Given the description of an element on the screen output the (x, y) to click on. 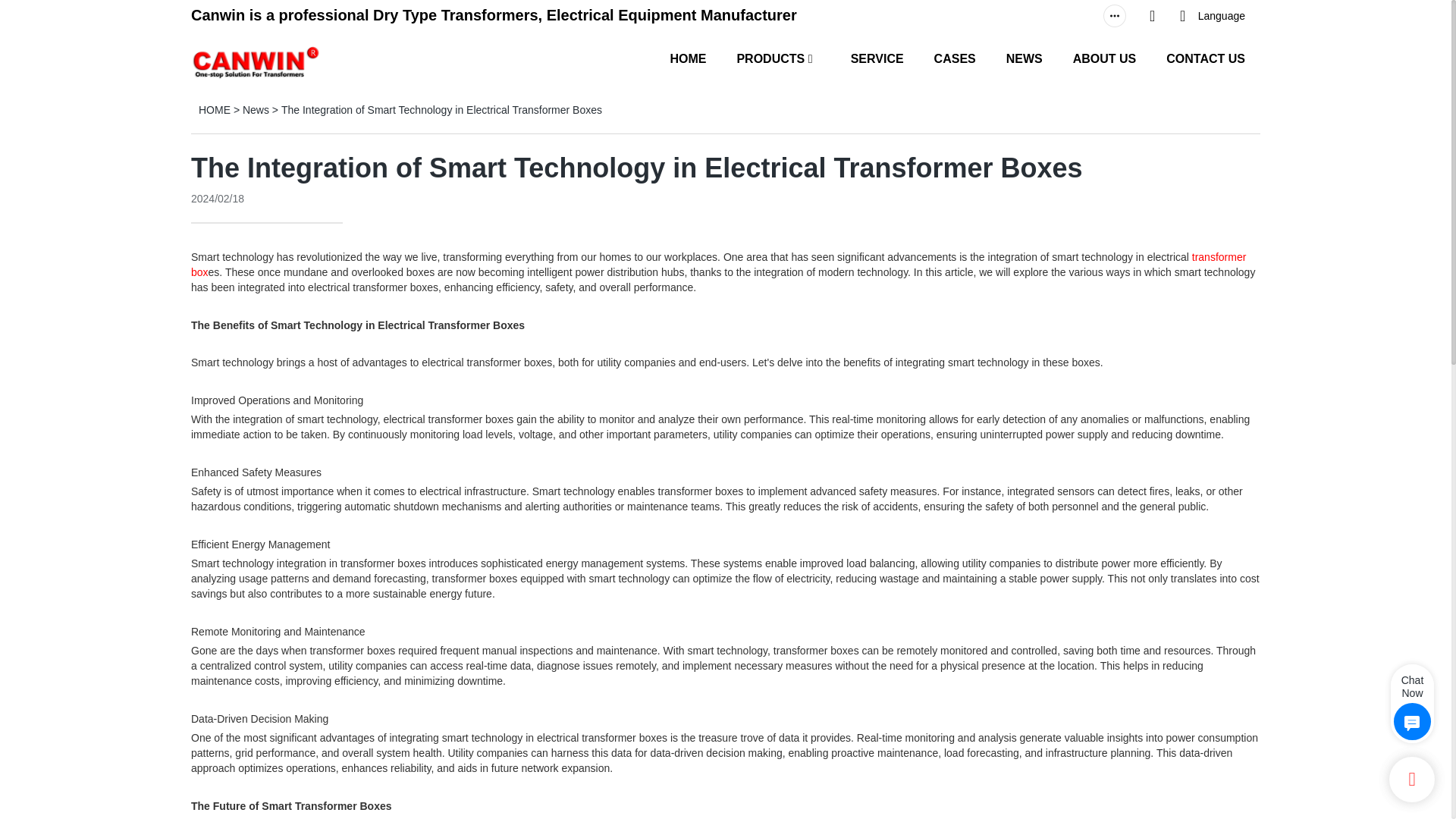
NEWS (1024, 58)
youtube (1053, 15)
twitter (1083, 15)
CASES (954, 58)
CONTACT US (1205, 58)
ABOUT US (1105, 58)
SERVICE (877, 58)
transformer box (718, 264)
News (256, 110)
HOME (214, 110)
PRODUCTS (770, 58)
transformer box (718, 264)
HOME (687, 58)
facebook (1024, 15)
